Given the description of an element on the screen output the (x, y) to click on. 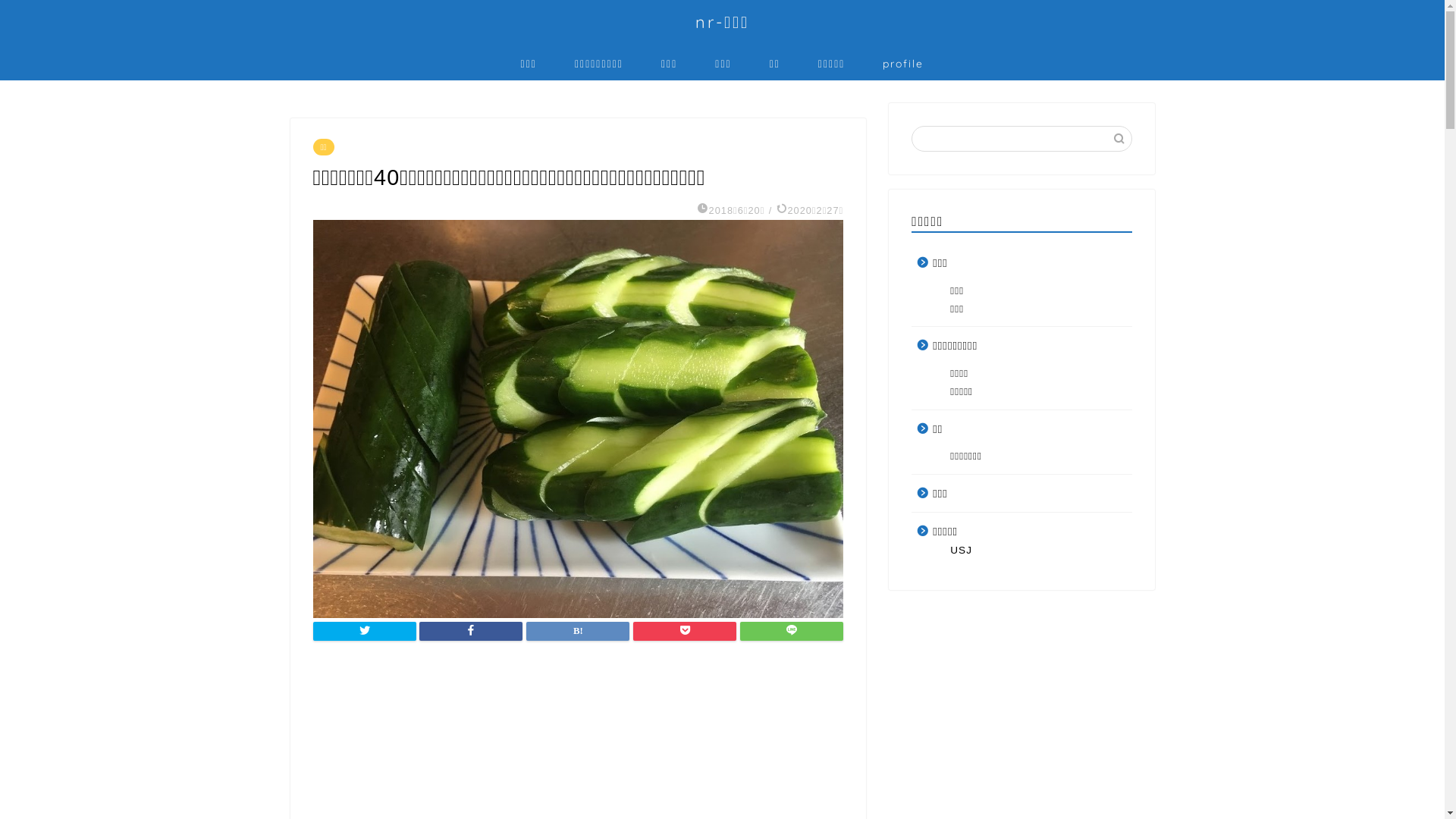
USJ Element type: text (1029, 550)
profile Element type: text (902, 62)
